Given the description of an element on the screen output the (x, y) to click on. 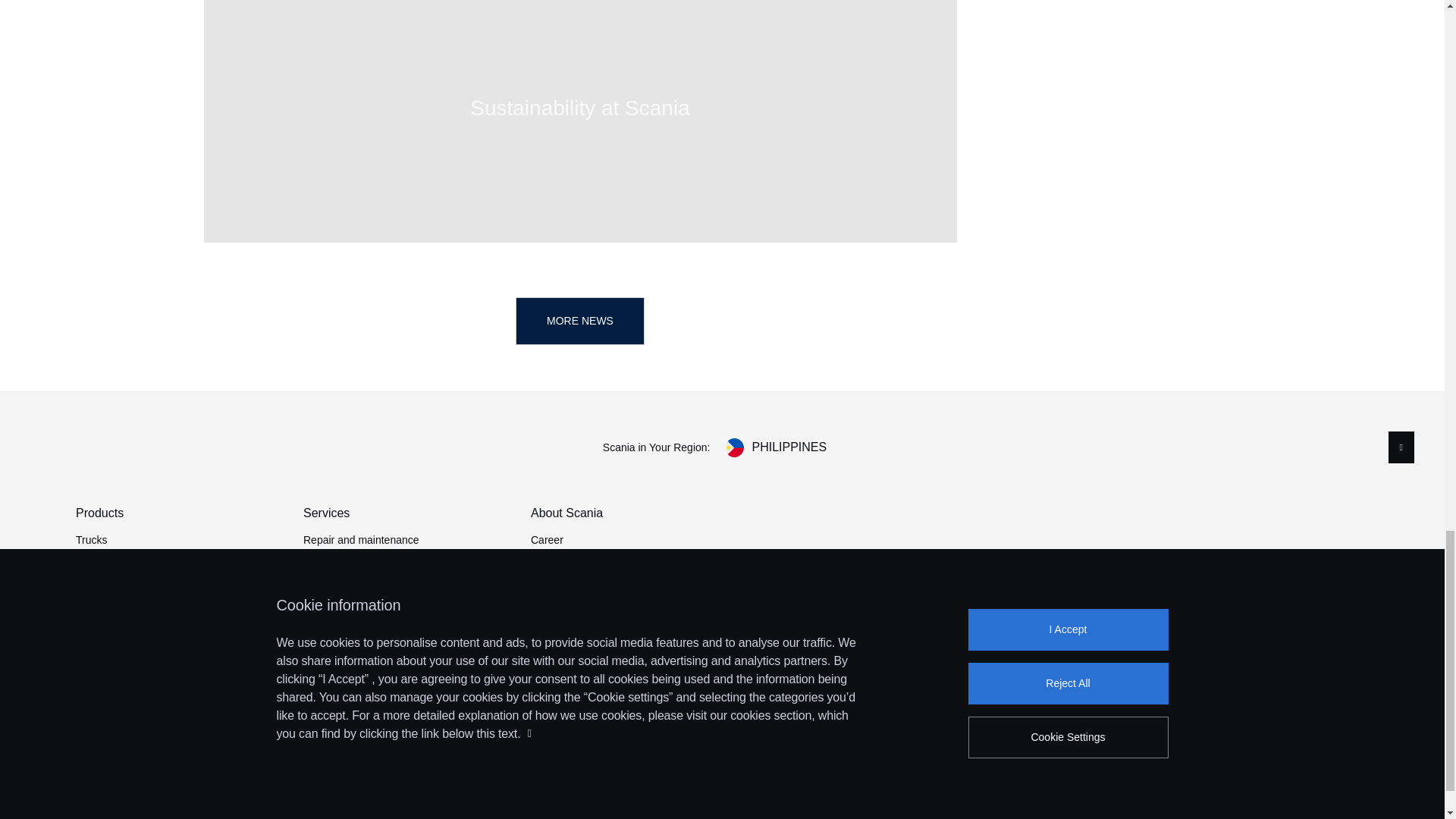
More news (580, 320)
